Given the description of an element on the screen output the (x, y) to click on. 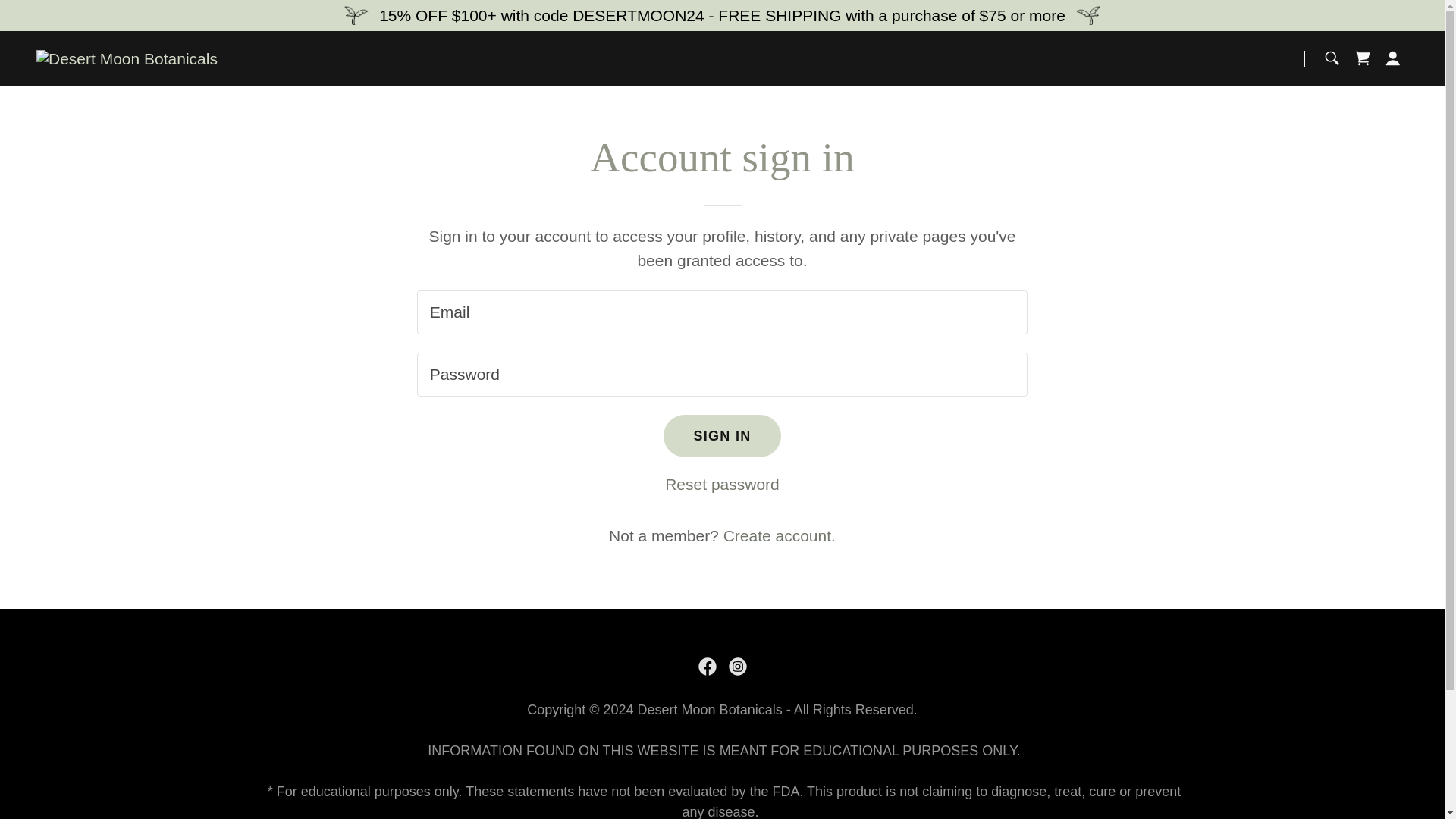
Desert Moon Botanicals (126, 57)
